Given the description of an element on the screen output the (x, y) to click on. 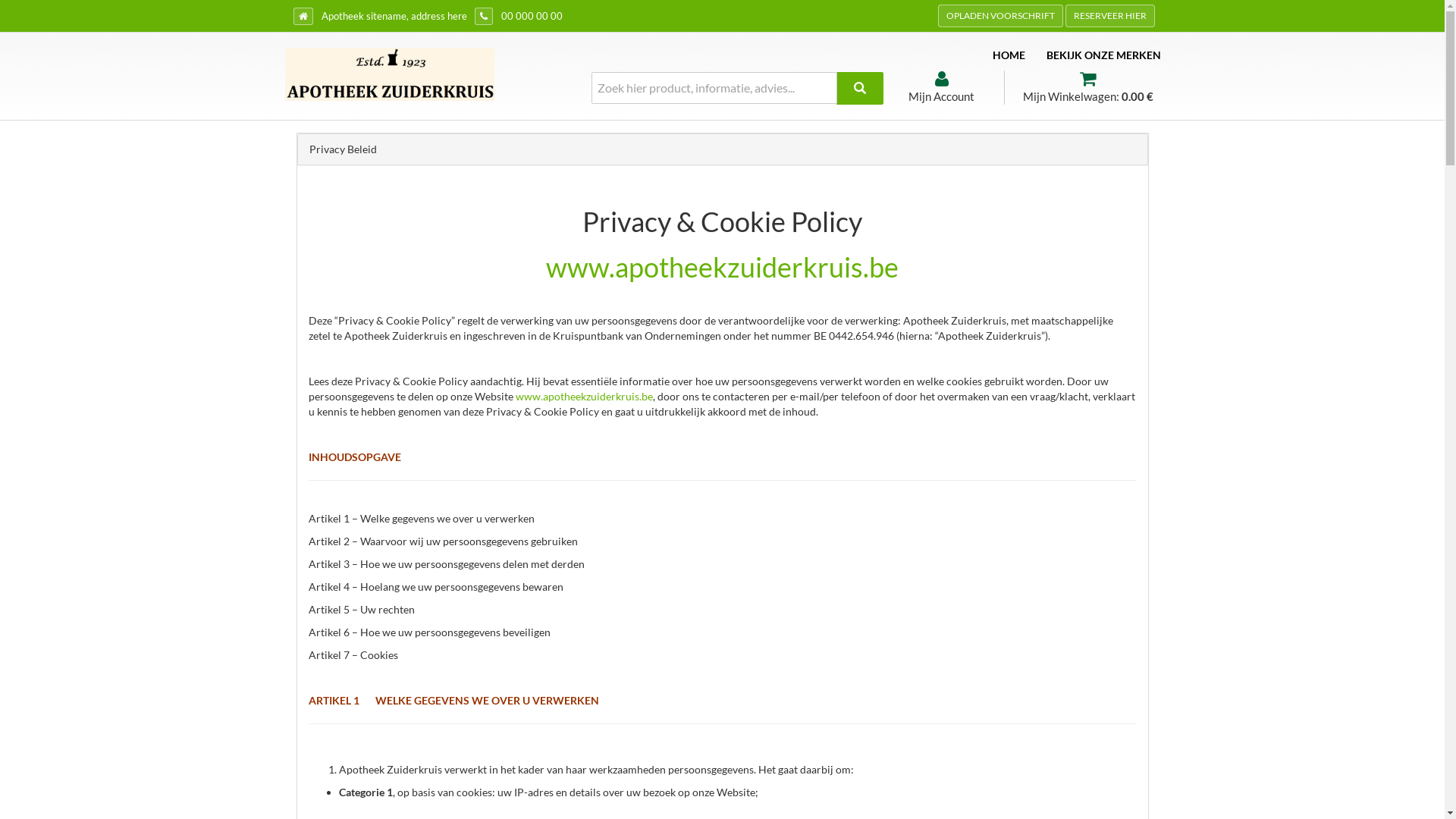
OPLADEN VOORSCHRIFT Element type: text (999, 15)
BEKIJK ONZE MERKEN Element type: text (1103, 54)
www.apotheekzuiderkruis.be Element type: text (583, 395)
HOME Element type: text (1008, 54)
www.apotheekzuiderkruis.be Element type: text (722, 266)
RESERVEER HIER Element type: text (1109, 15)
